Given the description of an element on the screen output the (x, y) to click on. 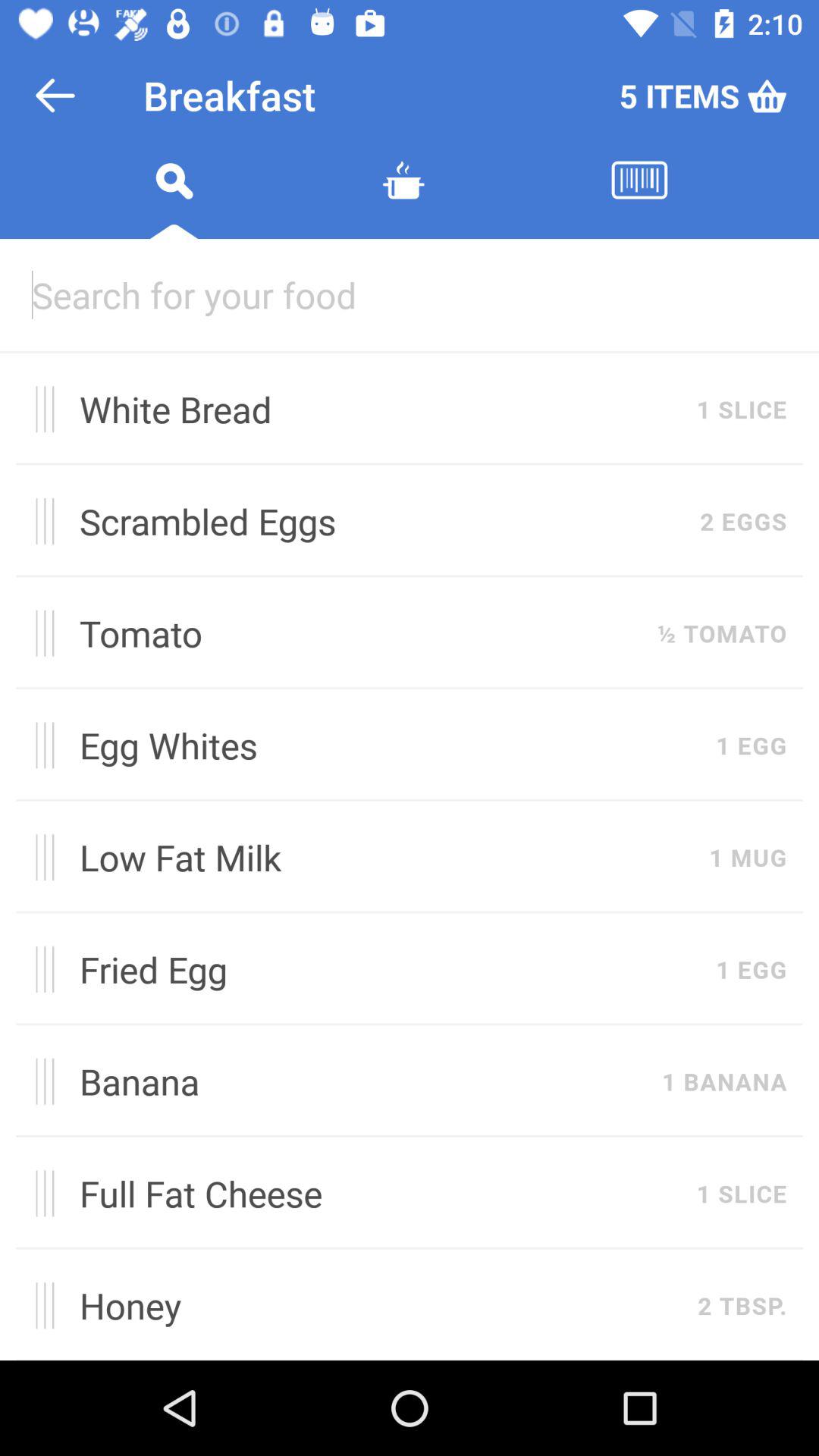
tap scrambled eggs item (381, 521)
